Given the description of an element on the screen output the (x, y) to click on. 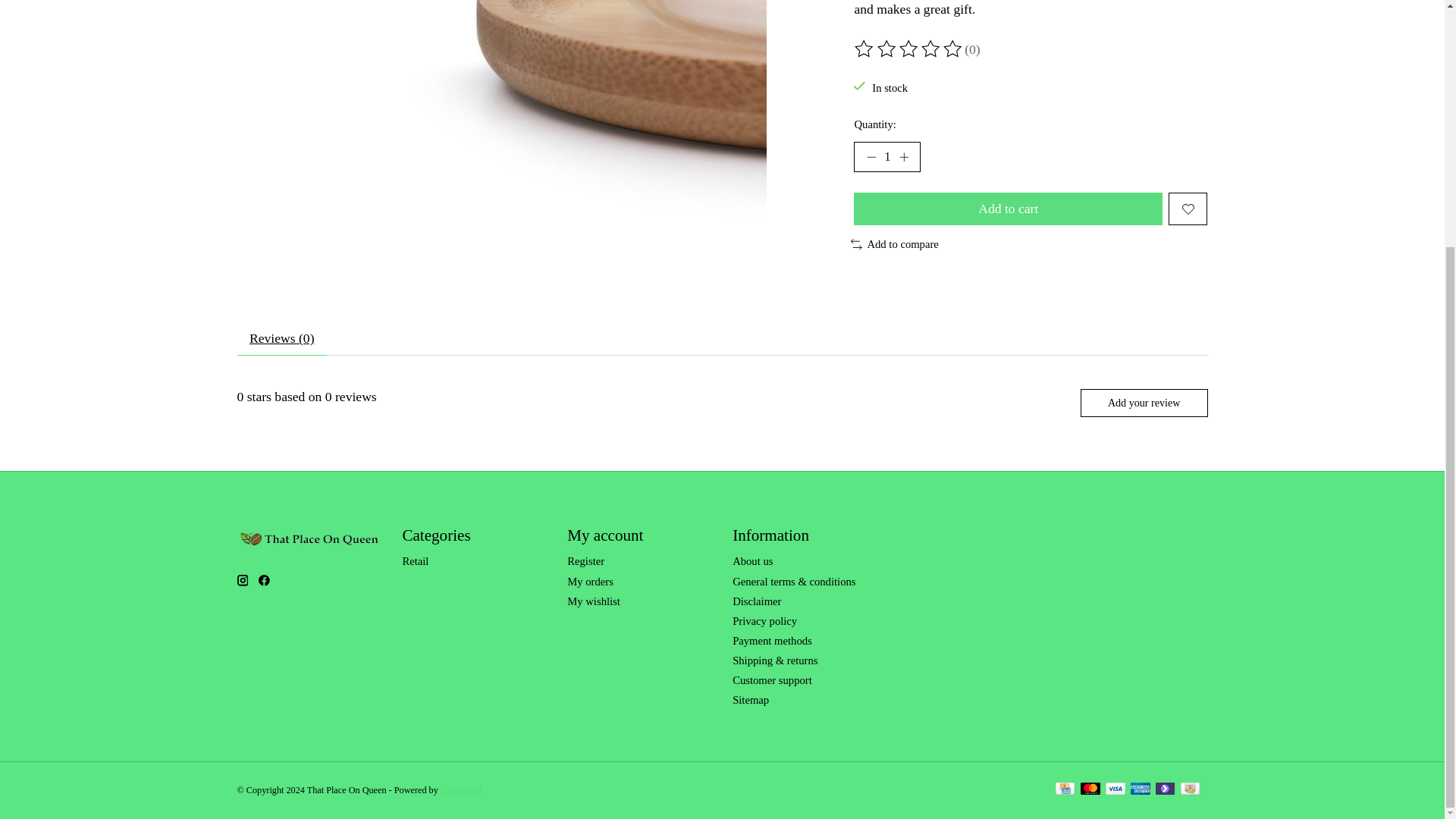
Privacy policy (764, 621)
Disclaimer (756, 601)
My orders (589, 581)
Register (585, 561)
About us (752, 561)
My wishlist (593, 601)
1 (886, 156)
Payment methods (772, 640)
